Given the description of an element on the screen output the (x, y) to click on. 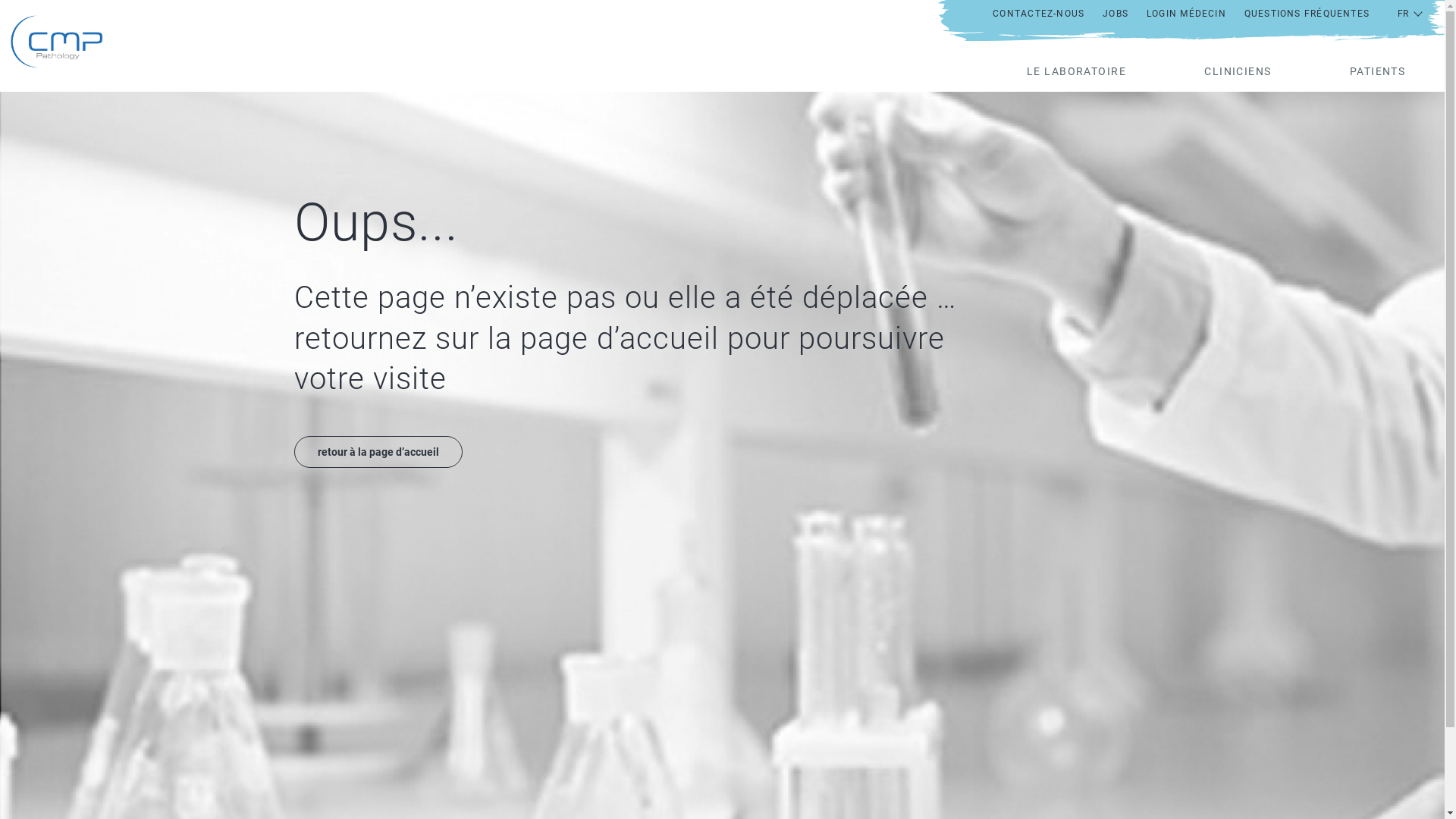
LE LABORATOIRE Element type: text (1076, 71)
CONTACTEZ-NOUS Element type: text (1038, 13)
Aller au contenu principal Element type: text (0, 0)
CLINICIENS Element type: text (1237, 71)
JOBS Element type: text (1115, 13)
PATIENTS Element type: text (1377, 71)
